Given the description of an element on the screen output the (x, y) to click on. 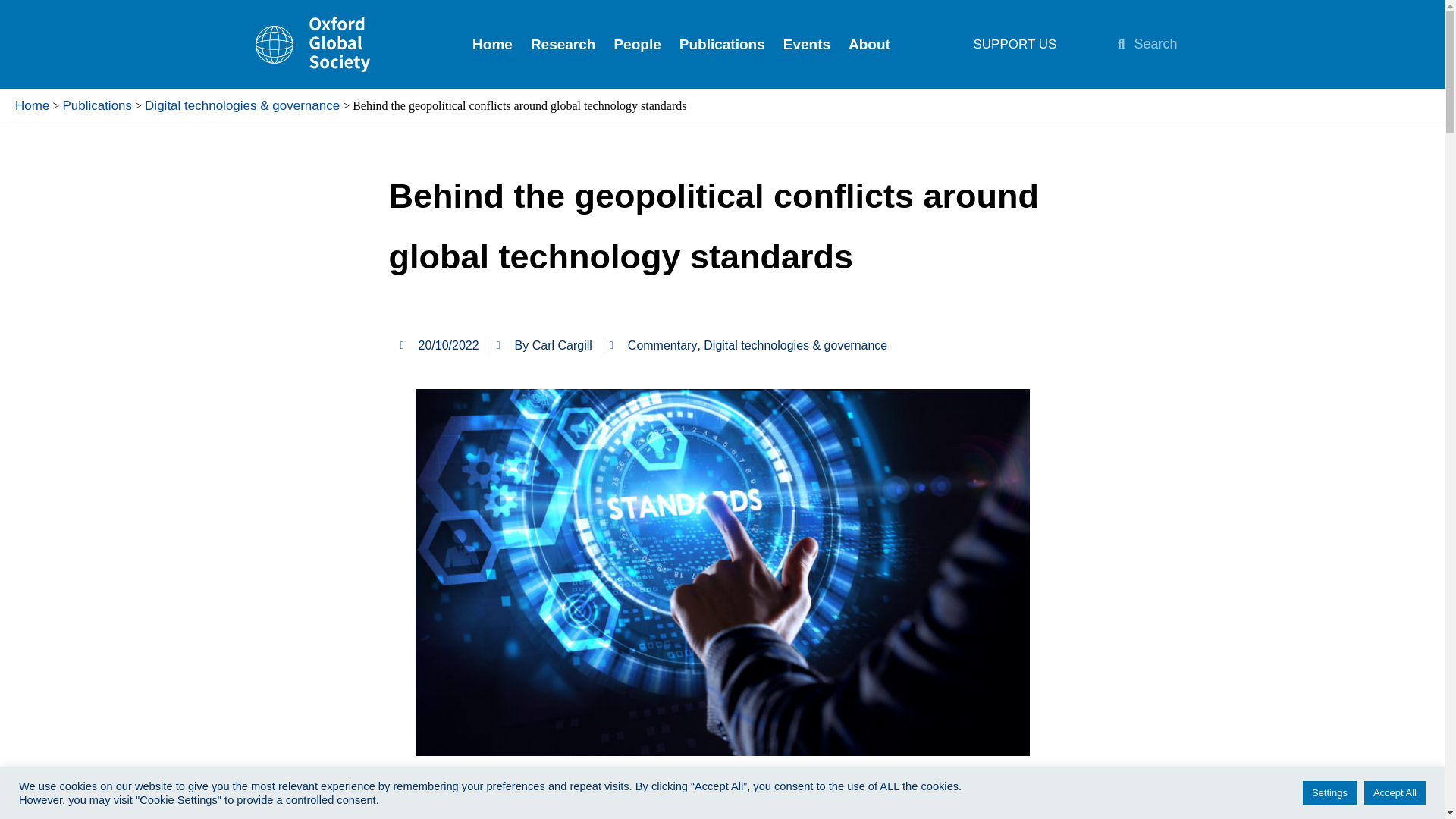
By Carl Cargill (544, 345)
People (636, 44)
Research (563, 44)
Events (807, 44)
Publications (97, 105)
About (869, 44)
Commentary (662, 345)
Search (1174, 43)
Home (492, 44)
Home (31, 105)
